Given the description of an element on the screen output the (x, y) to click on. 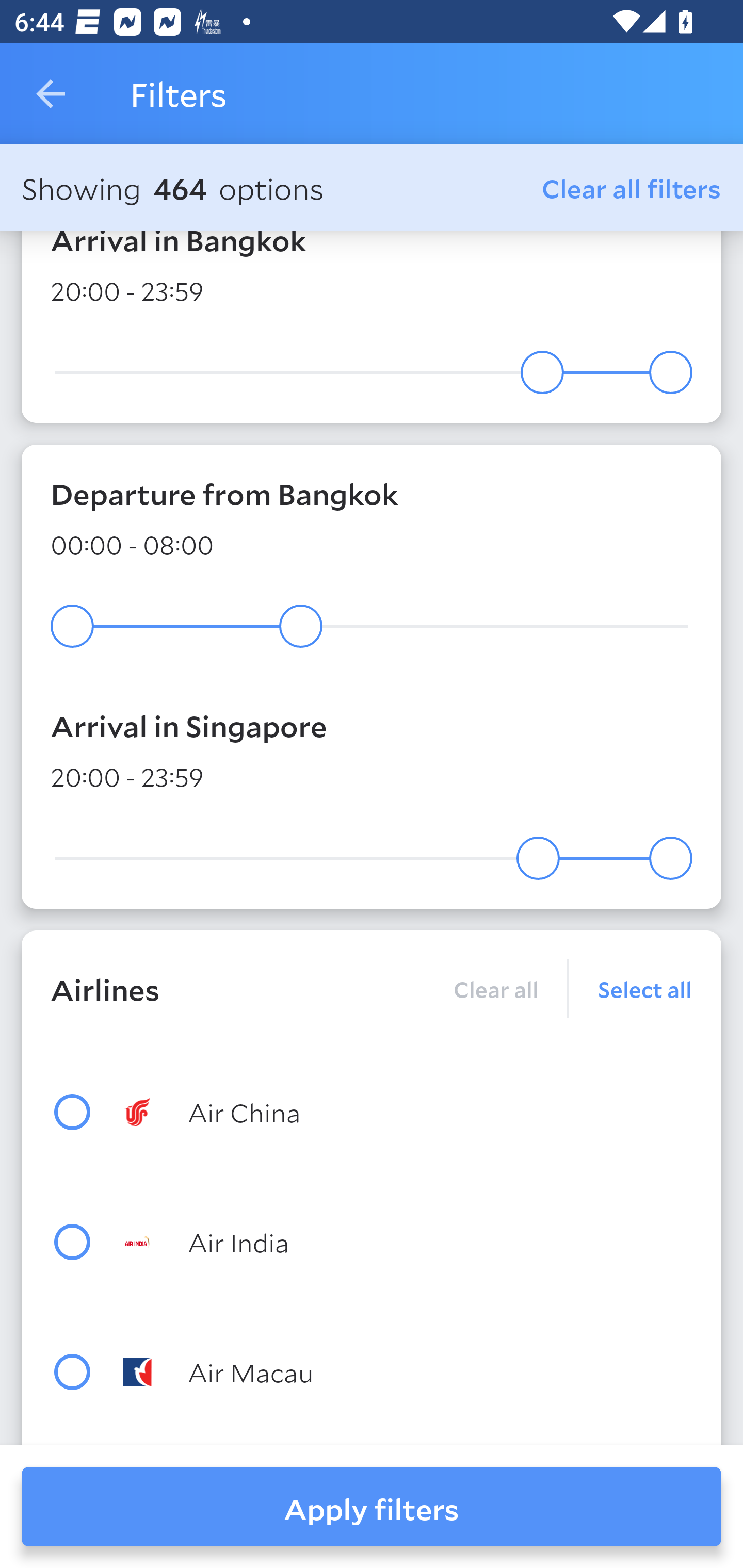
Navigate up (50, 93)
Clear all filters (631, 187)
Clear all (495, 988)
Select all (630, 988)
Air China (407, 1111)
Air India (407, 1241)
Air Macau (407, 1371)
Apply filters (371, 1506)
